Given the description of an element on the screen output the (x, y) to click on. 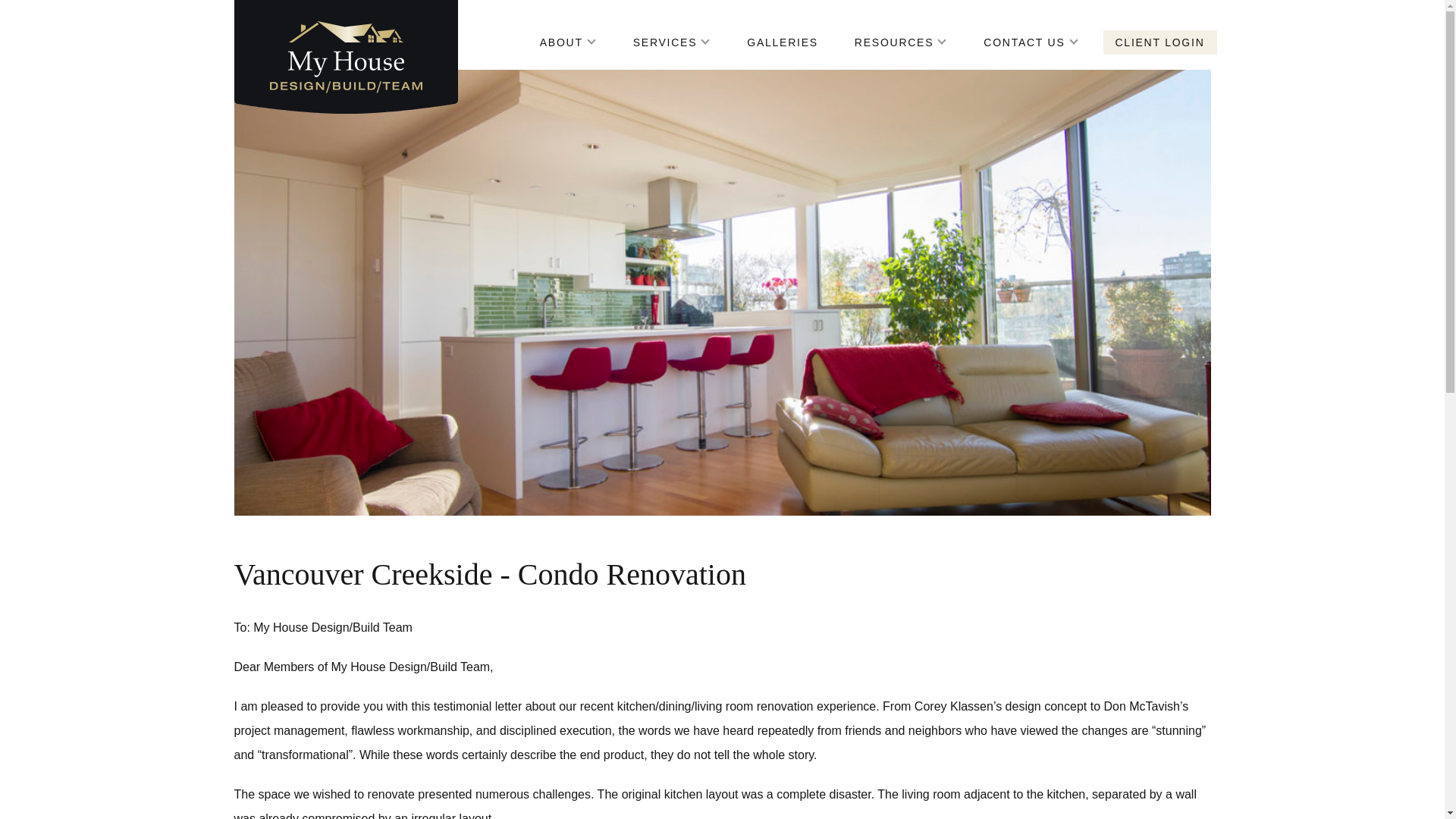
ABOUT (567, 42)
RESOURCES (901, 42)
GALLERIES (782, 42)
SERVICES (672, 42)
